Given the description of an element on the screen output the (x, y) to click on. 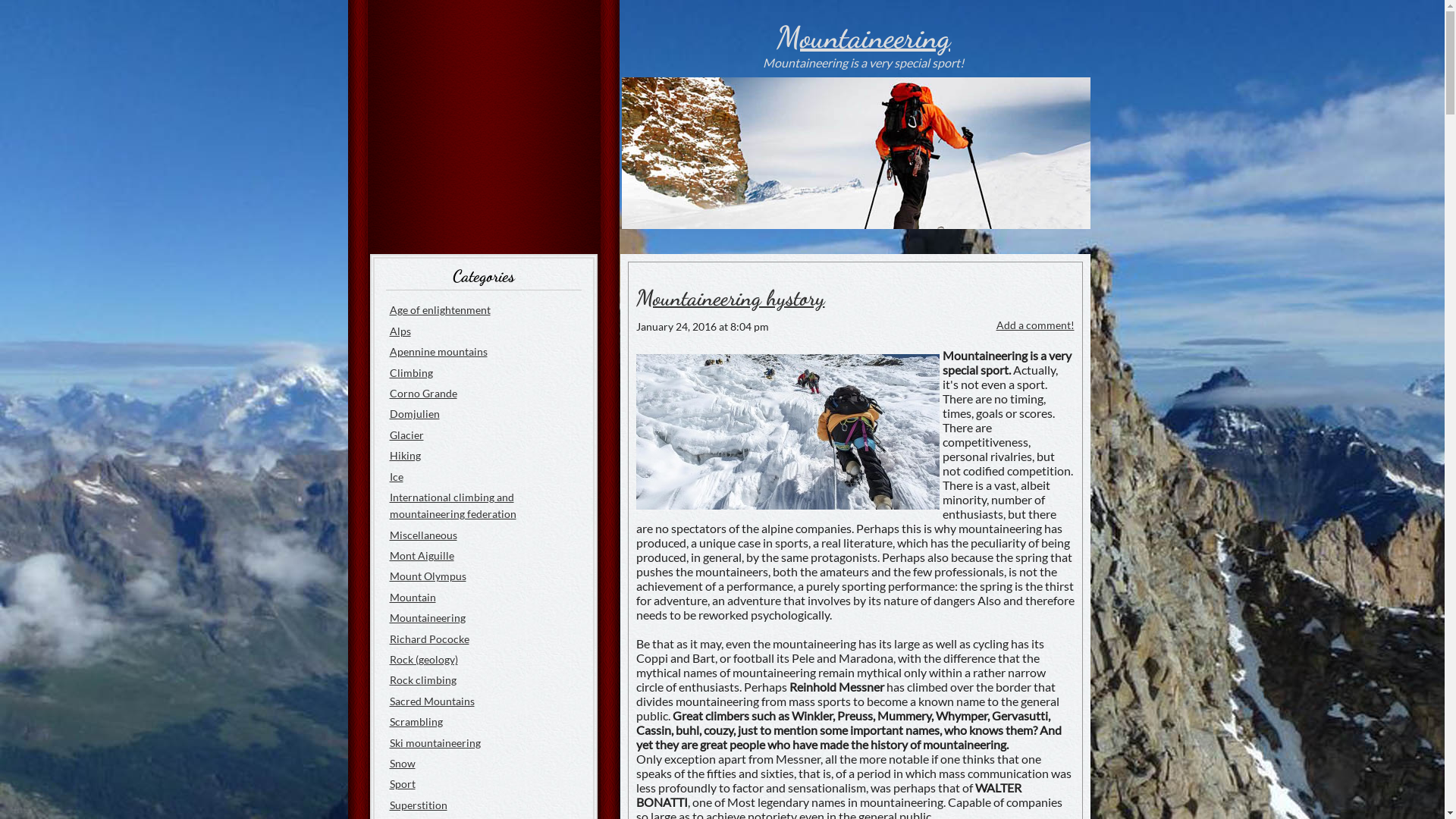
Climbing Element type: text (411, 372)
Sacred Mountains Element type: text (431, 700)
Ski mountaineering Element type: text (434, 742)
Sport Element type: text (402, 783)
Corno Grande Element type: text (423, 392)
Add a comment! Element type: text (1035, 324)
Age of enlightenment Element type: text (439, 309)
Mount Olympus Element type: text (427, 575)
Domjulien Element type: text (414, 413)
Richard Pococke Element type: text (429, 638)
Alps Element type: text (400, 330)
Scrambling Element type: text (415, 721)
Miscellaneous Element type: text (423, 534)
Rock (geology) Element type: text (423, 658)
Ice Element type: text (396, 476)
Mountaineering Element type: text (863, 36)
Superstition Element type: text (418, 804)
Mountaineering Element type: text (427, 617)
Mont Aiguille Element type: text (421, 555)
Snow Element type: text (402, 762)
Mountaineering hystory Element type: text (729, 297)
Rock climbing Element type: text (422, 679)
Mountain Element type: text (412, 596)
Glacier Element type: text (406, 434)
International climbing and mountaineering federation Element type: text (452, 505)
Apennine mountains Element type: text (438, 351)
Hiking Element type: text (404, 454)
